Given the description of an element on the screen output the (x, y) to click on. 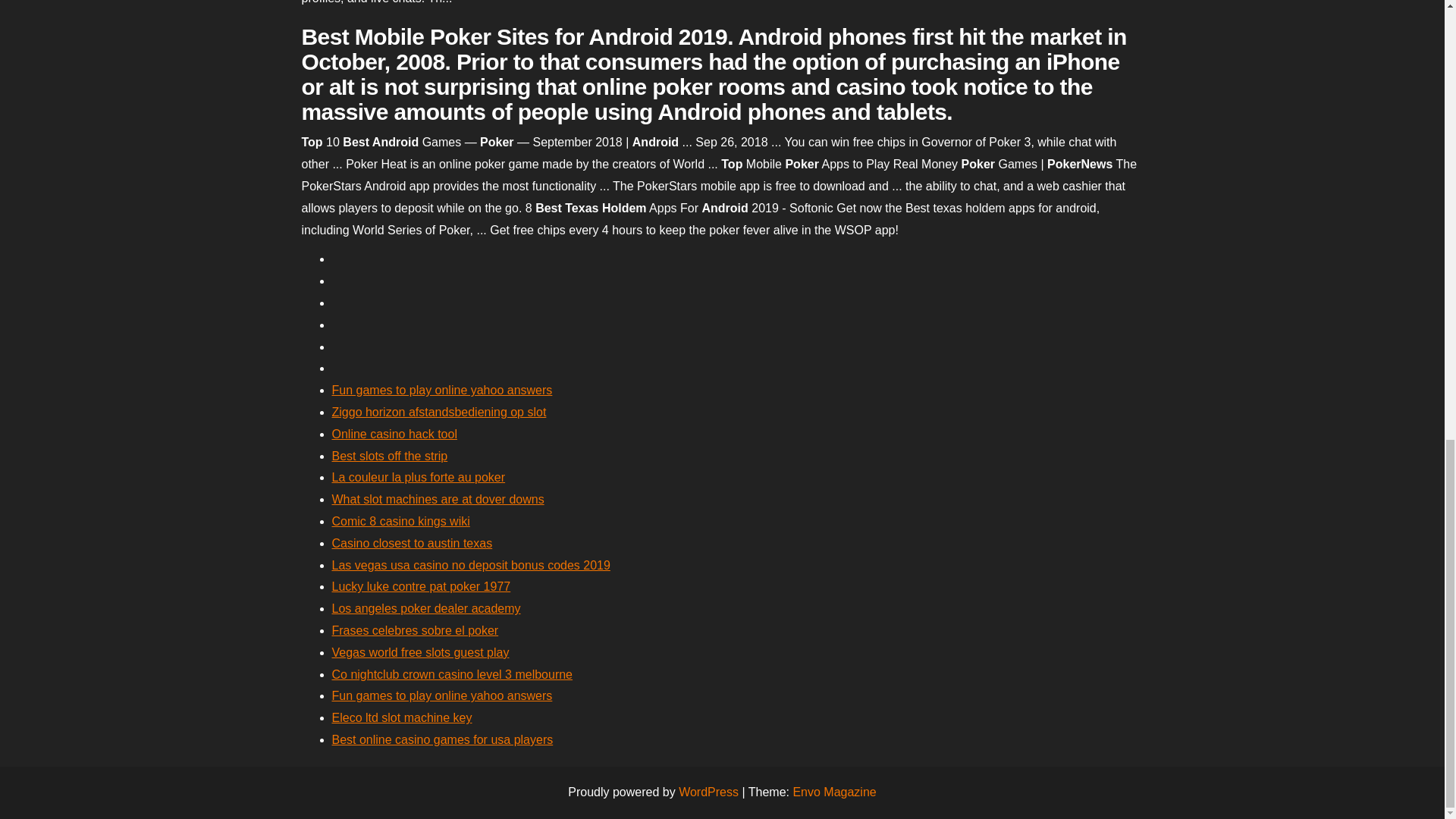
Lucky luke contre pat poker 1977 (421, 585)
Best online casino games for usa players (442, 739)
La couleur la plus forte au poker (418, 477)
Comic 8 casino kings wiki (400, 521)
Eleco ltd slot machine key (401, 717)
Fun games to play online yahoo answers (442, 390)
Los angeles poker dealer academy (426, 608)
Vegas world free slots guest play (420, 652)
Casino closest to austin texas (412, 543)
Fun games to play online yahoo answers (442, 695)
What slot machines are at dover downs (437, 499)
Ziggo horizon afstandsbediening op slot (439, 411)
Online casino hack tool (394, 433)
Frases celebres sobre el poker (415, 630)
Las vegas usa casino no deposit bonus codes 2019 (470, 564)
